Given the description of an element on the screen output the (x, y) to click on. 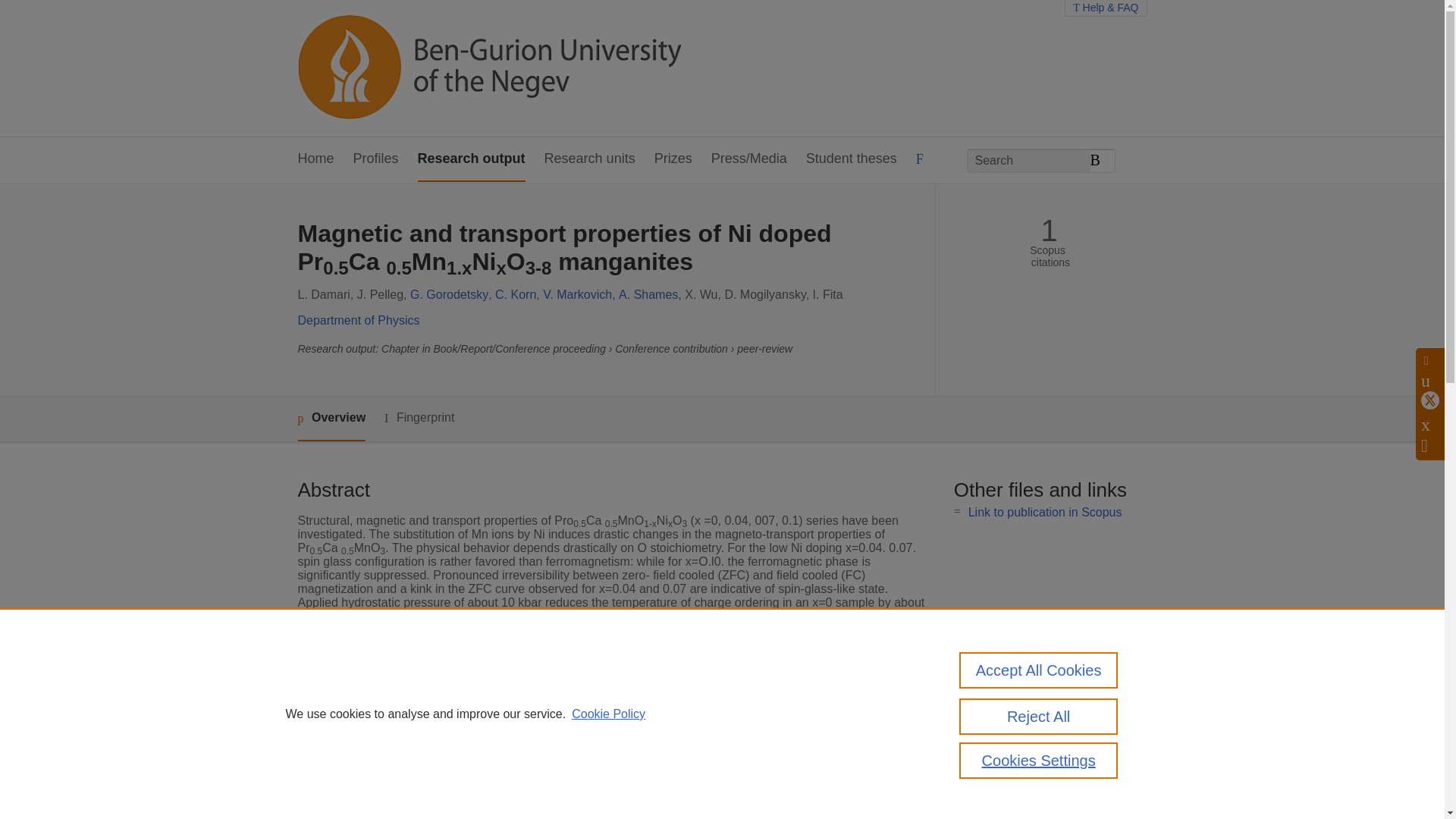
Fingerprint (419, 417)
Magnetic Nanostructures by Design (603, 795)
Link to publication in Scopus (1045, 512)
Research output (471, 159)
Student theses (851, 159)
Overview (331, 418)
G. Gorodetsky (448, 294)
Ben-Gurion University Research Portal Home (489, 68)
C. Korn (515, 294)
